Given the description of an element on the screen output the (x, y) to click on. 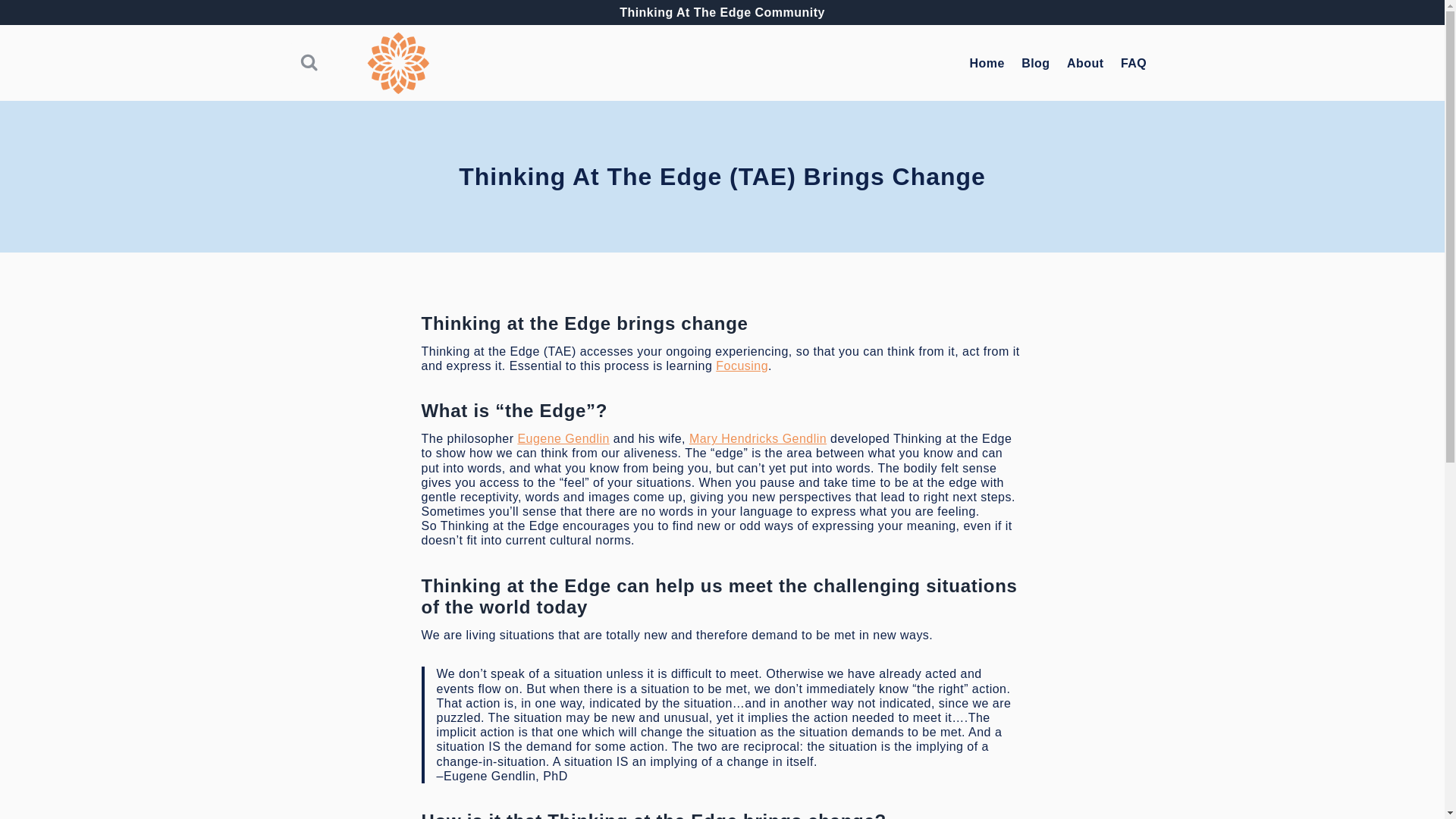
About (1085, 62)
Blog (1035, 62)
Thinking At The Edge Community (722, 11)
Mary Hendricks Gendlin (757, 438)
Home (986, 62)
Focusing (742, 365)
Eugene Gendlin (562, 438)
FAQ (1134, 62)
